Given the description of an element on the screen output the (x, y) to click on. 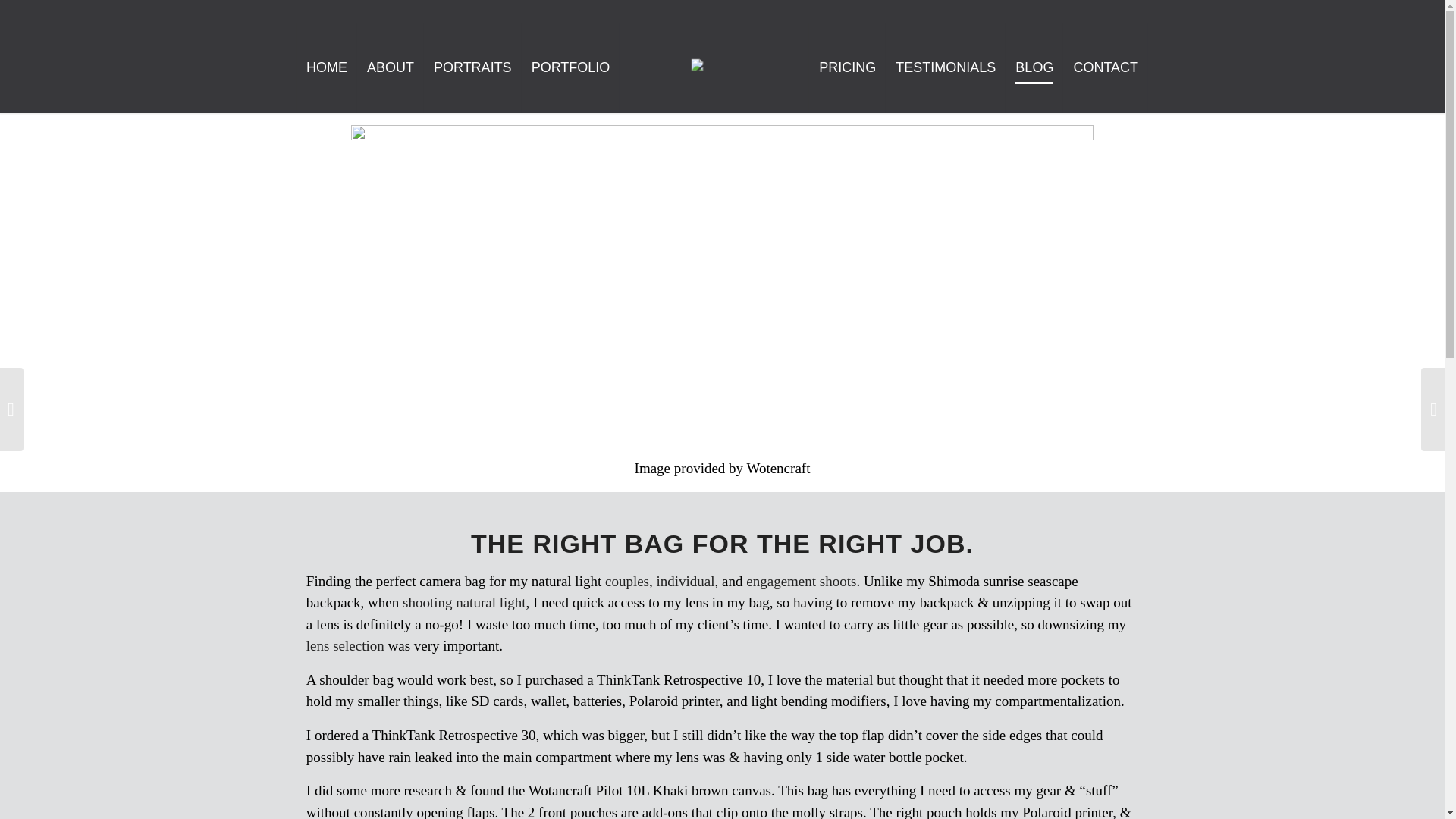
individual (685, 580)
PRICING (847, 67)
PORTFOLIO (570, 67)
shooting natural light (464, 602)
lens selection (344, 645)
PORTRAITS (472, 67)
couples (627, 580)
TESTIMONIALS (945, 67)
HiLifePhoto logo-Header (716, 67)
HOME (326, 67)
CONTACT (1105, 67)
ABOUT (389, 67)
BLOG (1034, 67)
engagement shoots (800, 580)
